Given the description of an element on the screen output the (x, y) to click on. 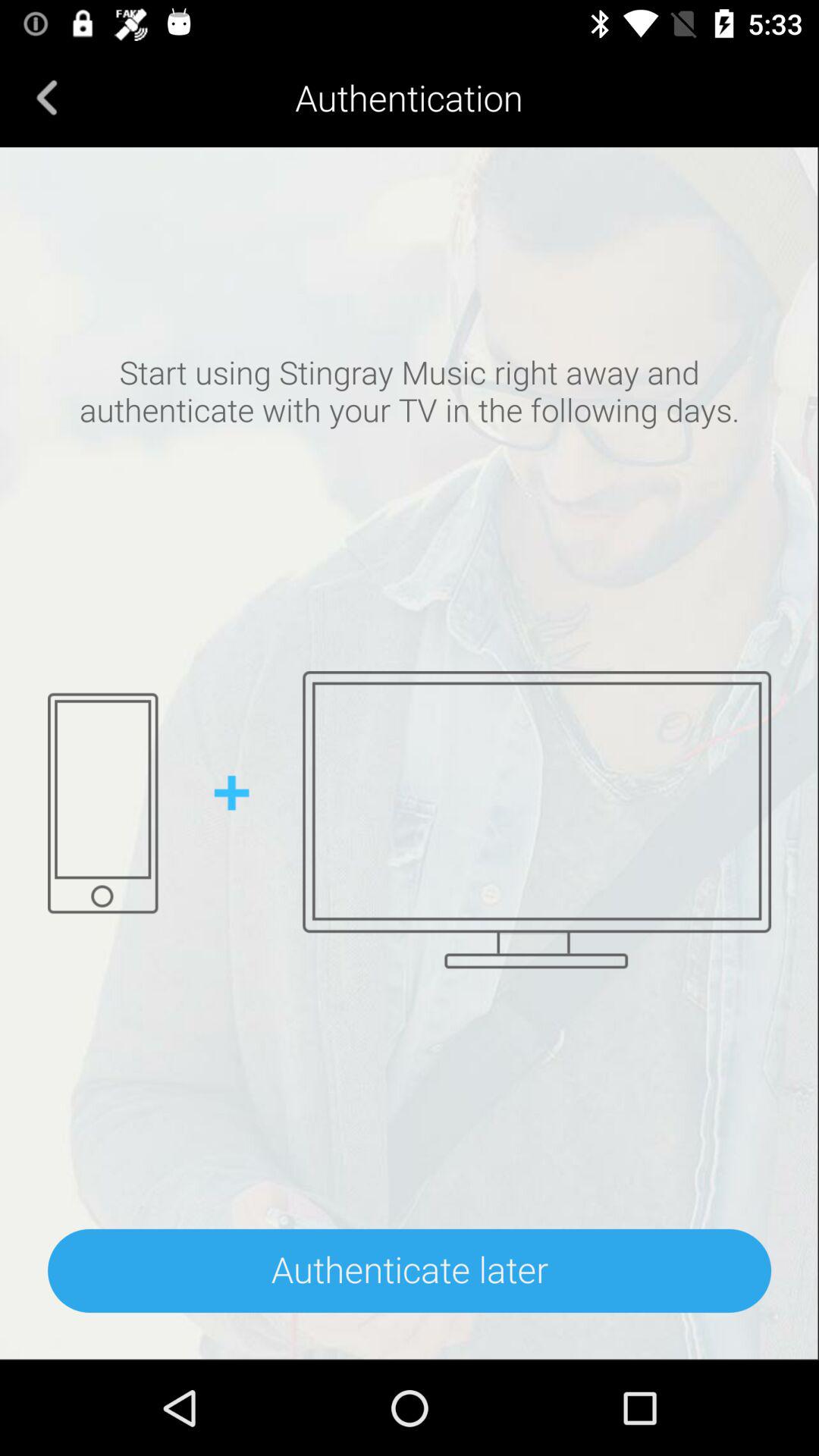
tap the authenticate later item (409, 1270)
